Given the description of an element on the screen output the (x, y) to click on. 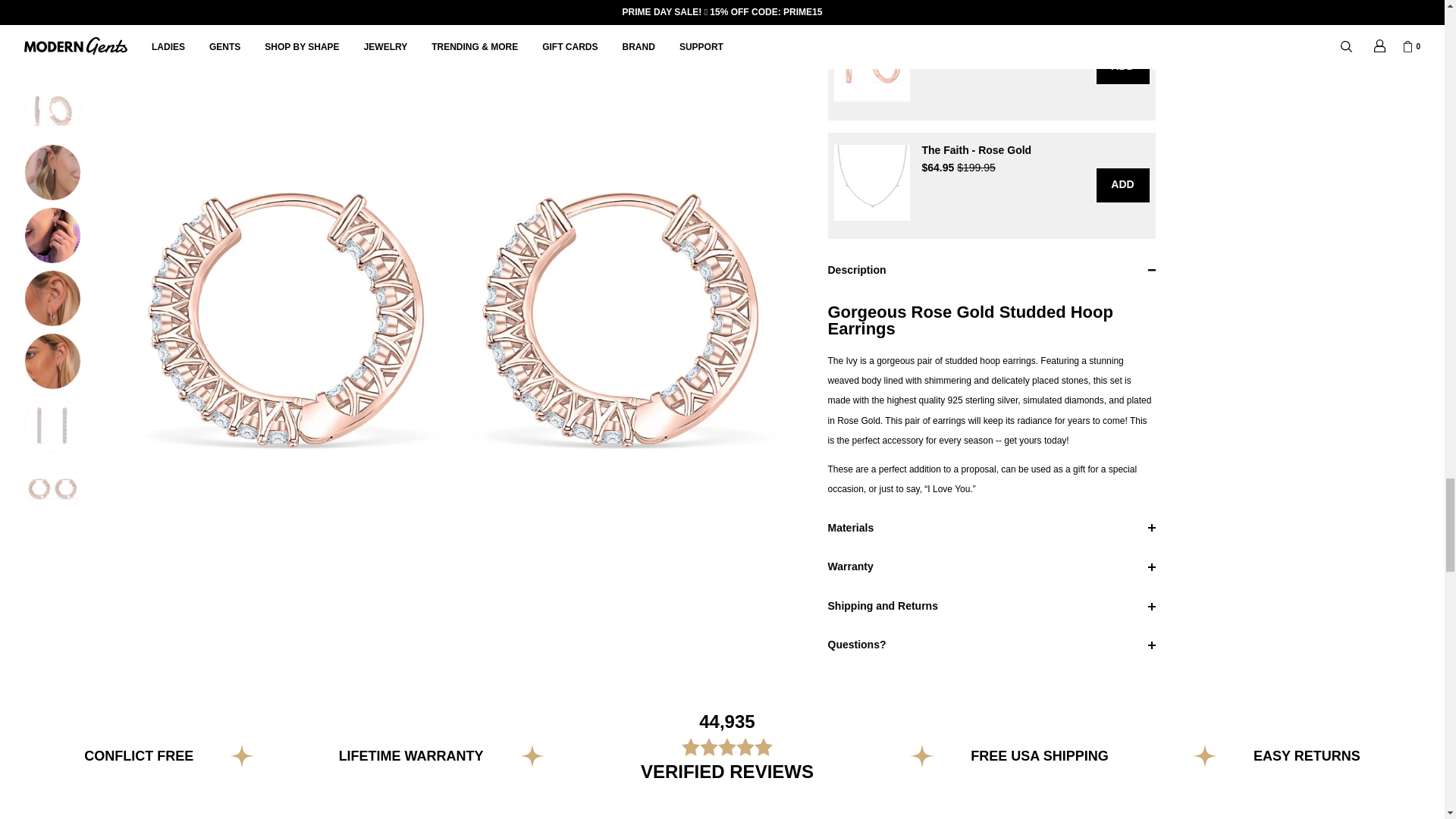
LIFETIME WARRANTY (726, 746)
LIFETIME WARRANTY (411, 755)
CONFLICT FREE (411, 756)
EASY RETURNS (138, 756)
CONFLICT FREE (1306, 755)
VERIFIED REVIEWS (138, 755)
FREE USA SHIPPING (726, 772)
EASY RETURNS (1039, 755)
FREE USA SHIPPING (1306, 756)
